Given the description of an element on the screen output the (x, y) to click on. 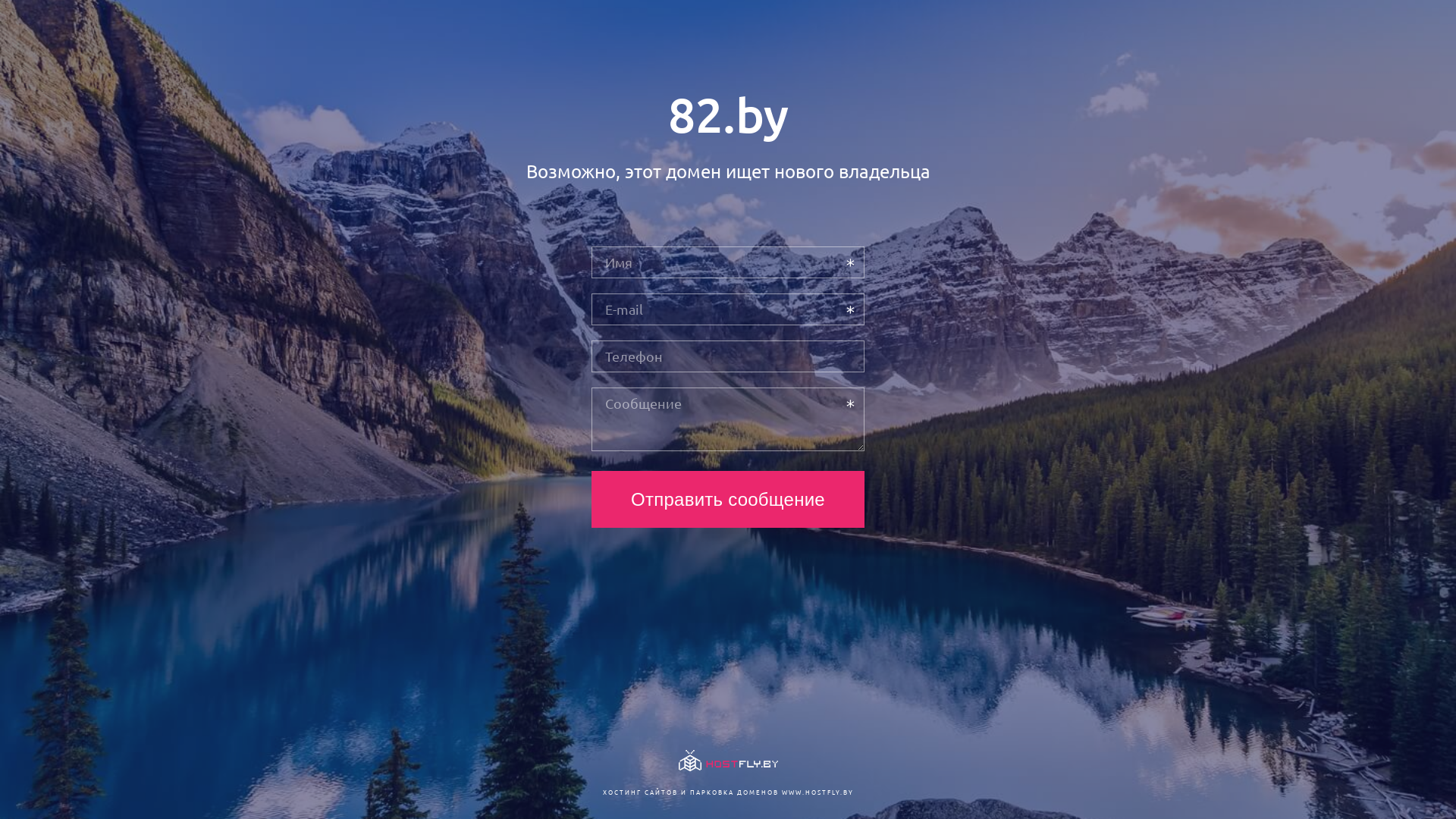
WWW.HOSTFLY.BY Element type: text (817, 791)
